Given the description of an element on the screen output the (x, y) to click on. 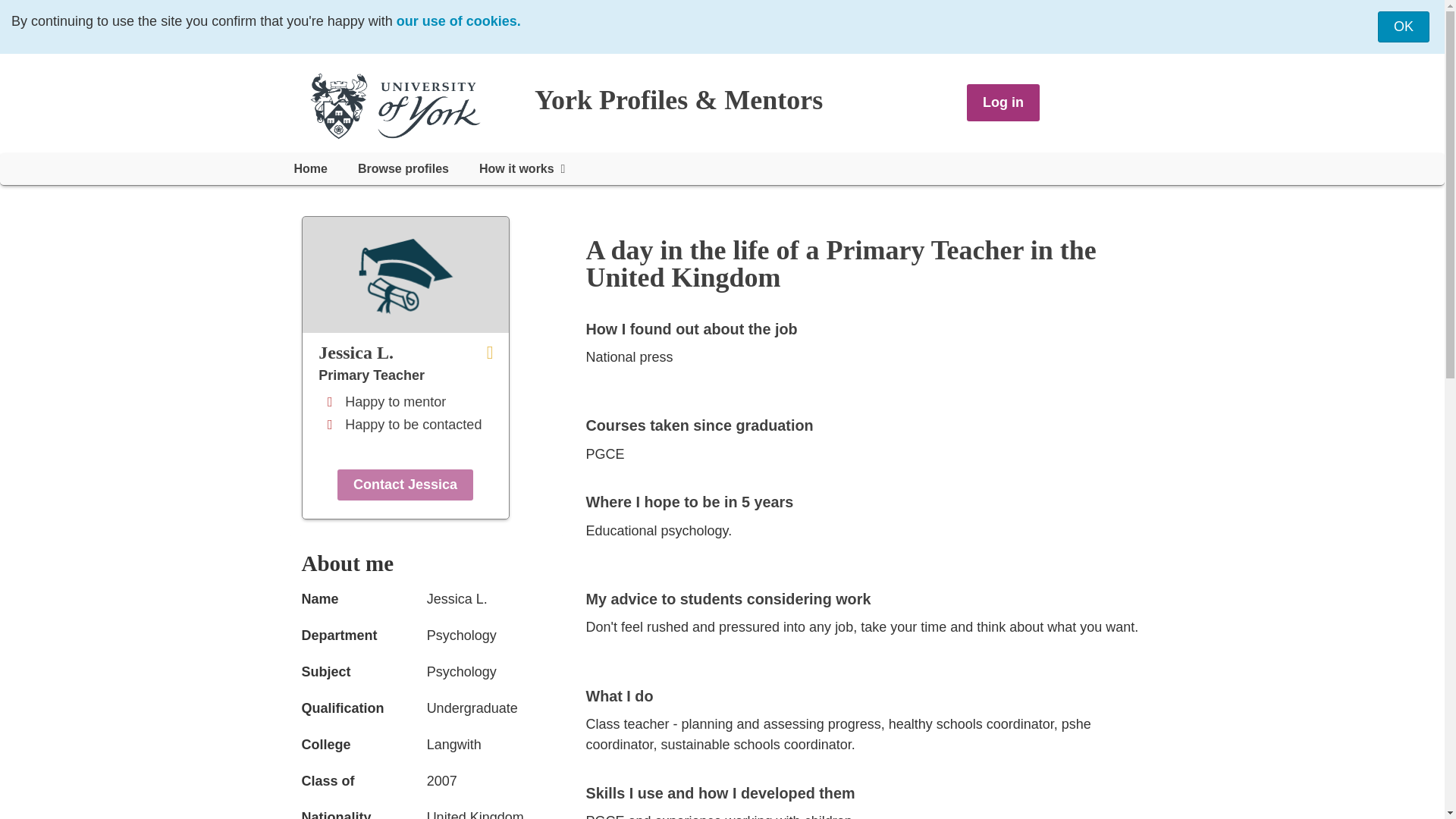
Primary Teacher (371, 375)
OK (1403, 26)
Jessica is not accepting messages currently. (405, 484)
Contact Jessica (405, 484)
How it works   (521, 169)
Log in (1002, 102)
our use of cookies. (458, 20)
Jessica L. (413, 352)
